Given the description of an element on the screen output the (x, y) to click on. 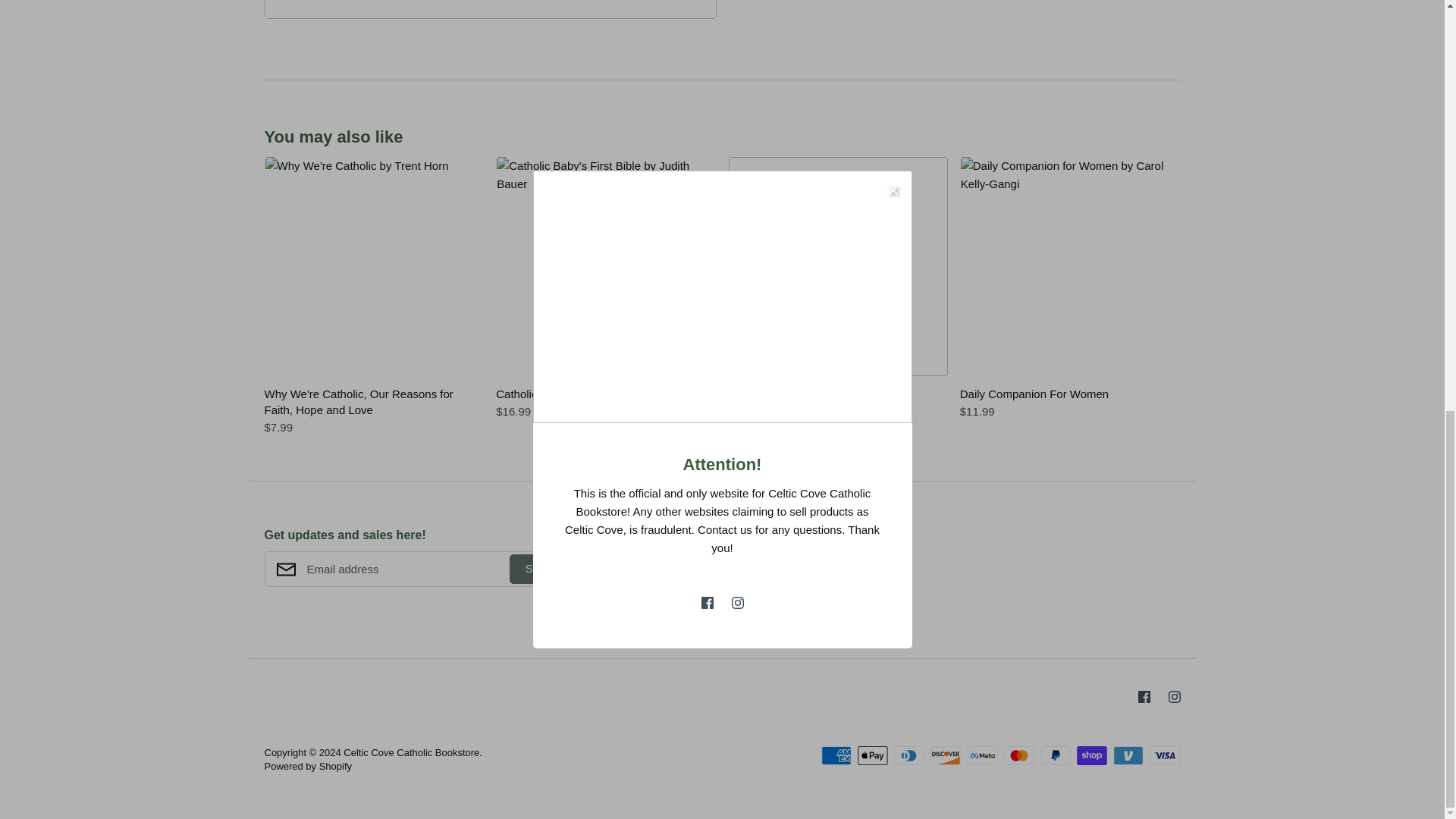
Shop Pay (1091, 755)
Meta Pay (982, 755)
American Express (836, 755)
Diners Club (908, 755)
Visa (1164, 755)
Apple Pay (872, 755)
Discover (945, 755)
Venmo (1127, 755)
Mastercard (1018, 755)
PayPal (1055, 755)
